Given the description of an element on the screen output the (x, y) to click on. 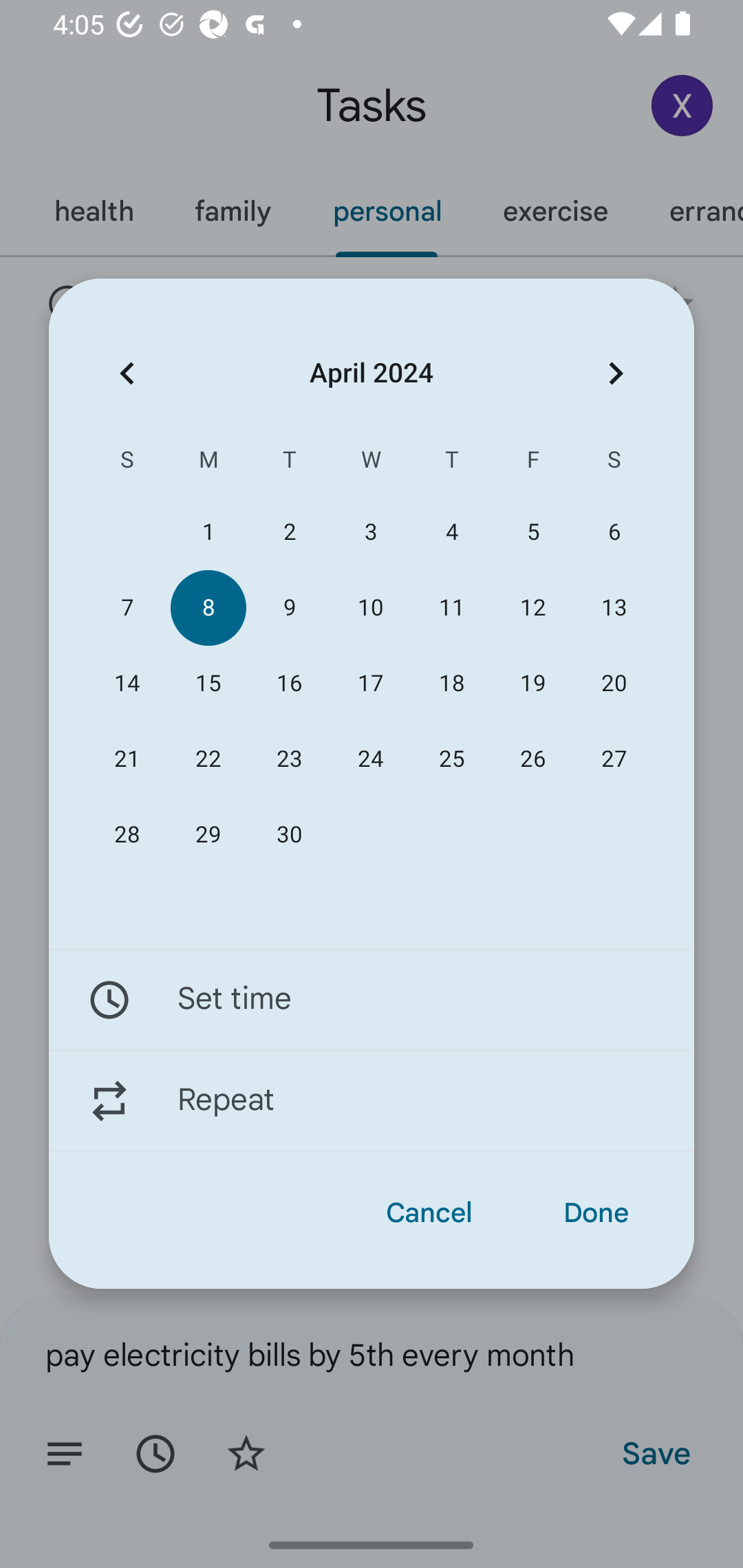
Previous month (126, 372)
Next month (615, 372)
1 01 April 2024 (207, 531)
2 02 April 2024 (288, 531)
3 03 April 2024 (370, 531)
4 04 April 2024 (451, 531)
5 05 April 2024 (532, 531)
6 06 April 2024 (613, 531)
7 07 April 2024 (126, 608)
8 08 April 2024 (207, 608)
9 09 April 2024 (288, 608)
10 10 April 2024 (370, 608)
11 11 April 2024 (451, 608)
12 12 April 2024 (532, 608)
13 13 April 2024 (613, 608)
14 14 April 2024 (126, 683)
15 15 April 2024 (207, 683)
16 16 April 2024 (288, 683)
17 17 April 2024 (370, 683)
18 18 April 2024 (451, 683)
19 19 April 2024 (532, 683)
20 20 April 2024 (613, 683)
21 21 April 2024 (126, 758)
22 22 April 2024 (207, 758)
23 23 April 2024 (288, 758)
24 24 April 2024 (370, 758)
25 25 April 2024 (451, 758)
26 26 April 2024 (532, 758)
27 27 April 2024 (613, 758)
28 28 April 2024 (126, 834)
29 29 April 2024 (207, 834)
30 30 April 2024 (288, 834)
Set time (371, 999)
Repeat (371, 1101)
Cancel (429, 1213)
Done (595, 1213)
